Given the description of an element on the screen output the (x, y) to click on. 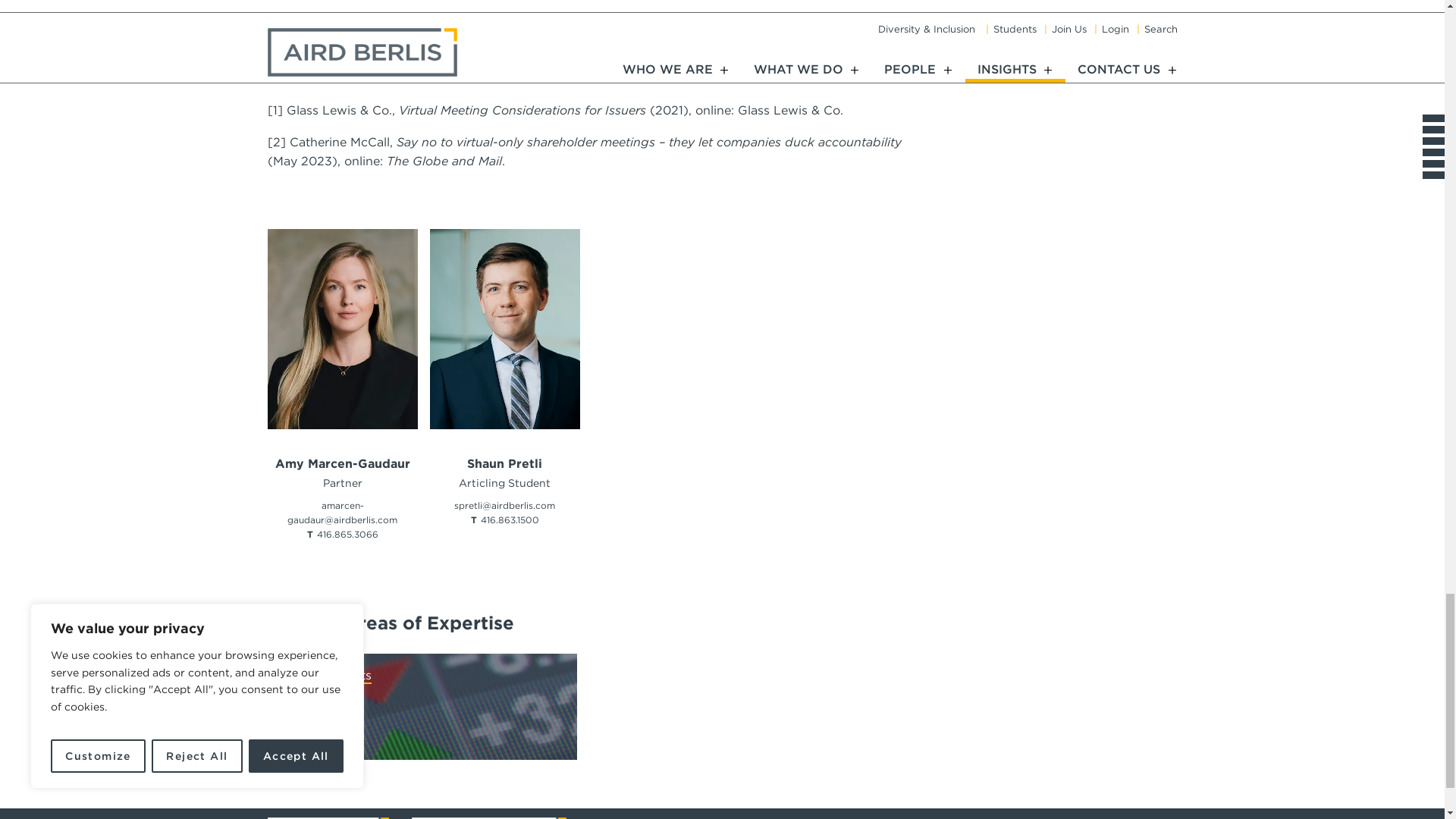
Call now (347, 533)
Amy Marcen-Gaudaur (342, 463)
Email now (341, 512)
